Given the description of an element on the screen output the (x, y) to click on. 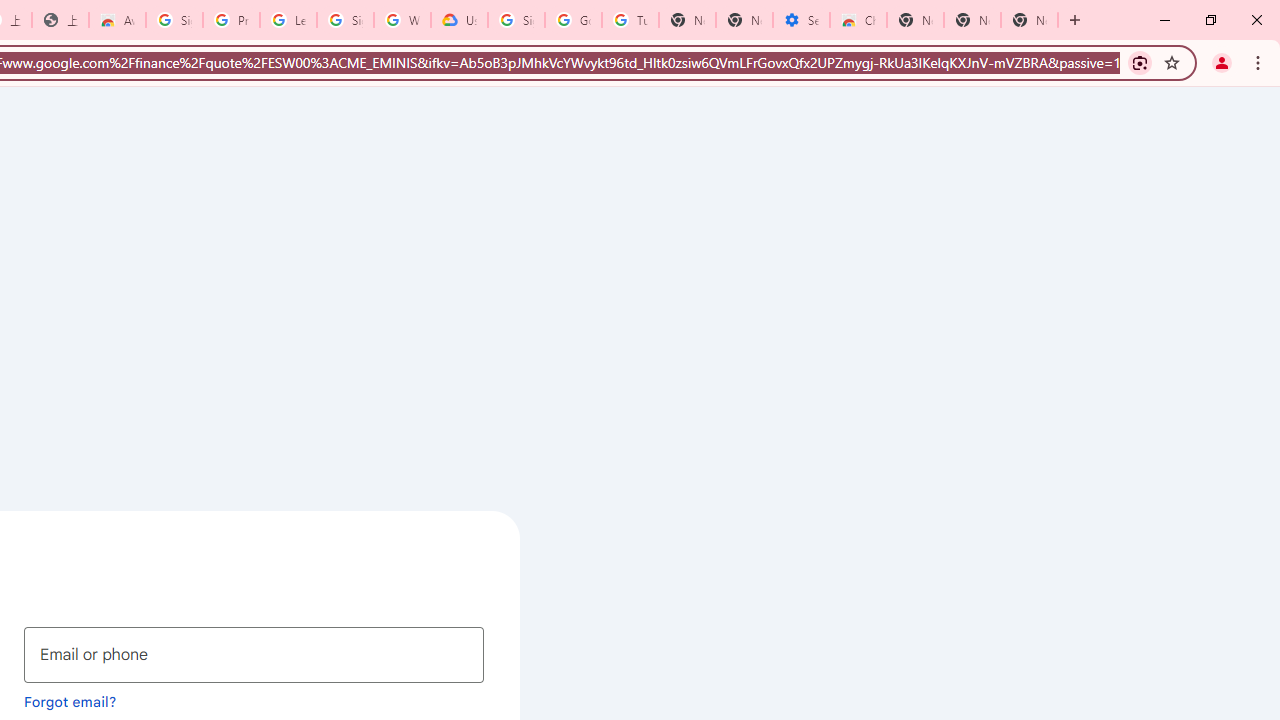
Turn cookies on or off - Computer - Google Account Help (630, 20)
Chrome Web Store - Accessibility extensions (858, 20)
Sign in - Google Accounts (345, 20)
Sign in - Google Accounts (174, 20)
Settings - Accessibility (801, 20)
Google Account Help (573, 20)
Email or phone (253, 654)
Awesome Screen Recorder & Screenshot - Chrome Web Store (116, 20)
New Tab (1029, 20)
Sign in - Google Accounts (516, 20)
